Given the description of an element on the screen output the (x, y) to click on. 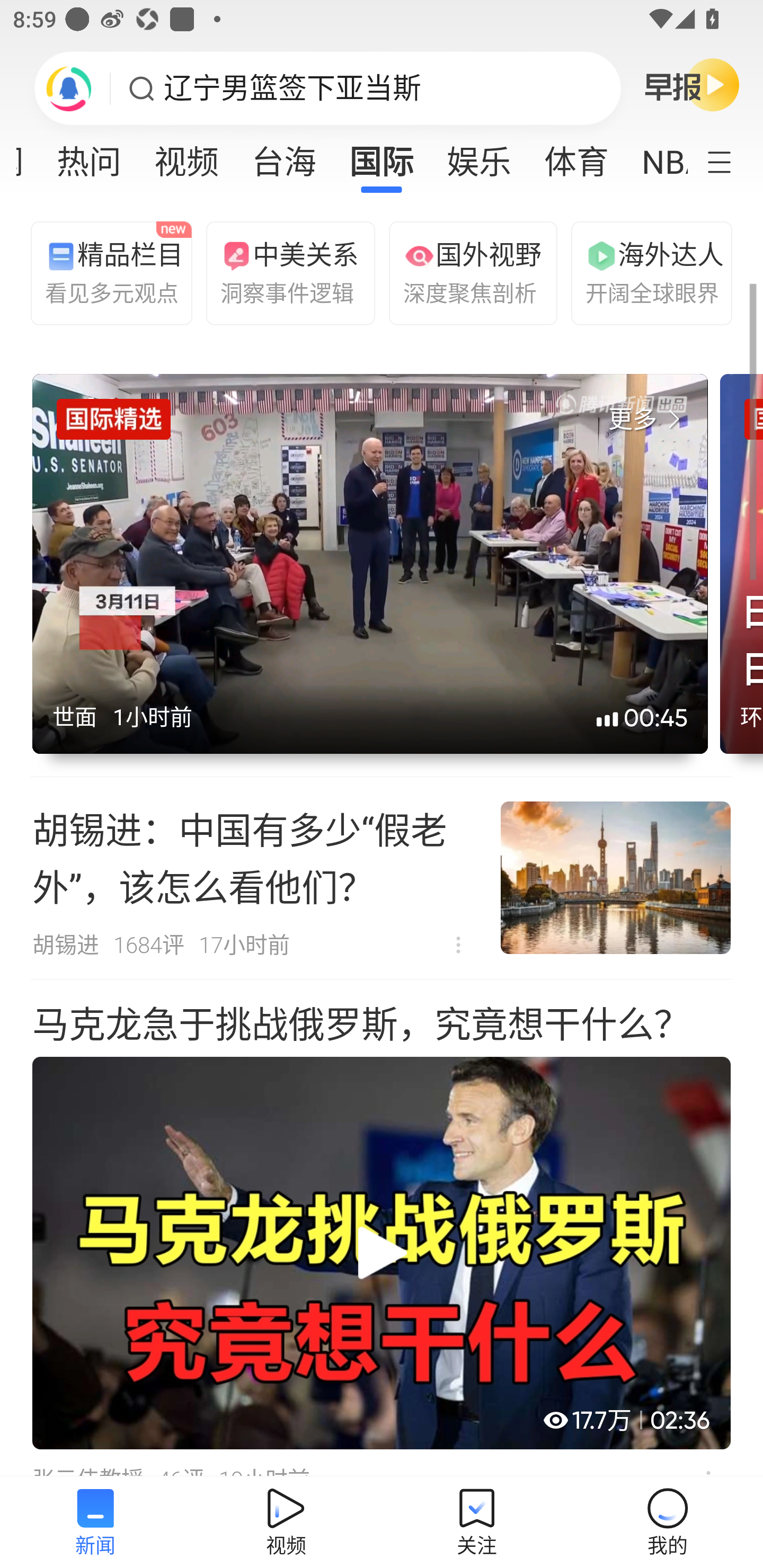
早晚报 (691, 84)
刷新 (68, 88)
辽宁男篮签下亚当斯 (292, 88)
热问 (89, 155)
视频 (186, 155)
台海 (283, 155)
国际 (381, 155)
娱乐 (478, 155)
体育 (575, 155)
NBA (655, 155)
 定制频道 (731, 160)
精品栏目 看见多元观点 (106, 272)
中美关系 洞察事件逻辑 (282, 272)
国外视野 深度聚焦剖析 (465, 272)
海外达人 开阔全球眼界 (647, 272)
更多  (648, 419)
胡锡进：中国有多少“假老外”，该怎么看他们？ 胡锡进 1684评 17小时前  不感兴趣 (381, 877)
 不感兴趣 (458, 945)
